Given the description of an element on the screen output the (x, y) to click on. 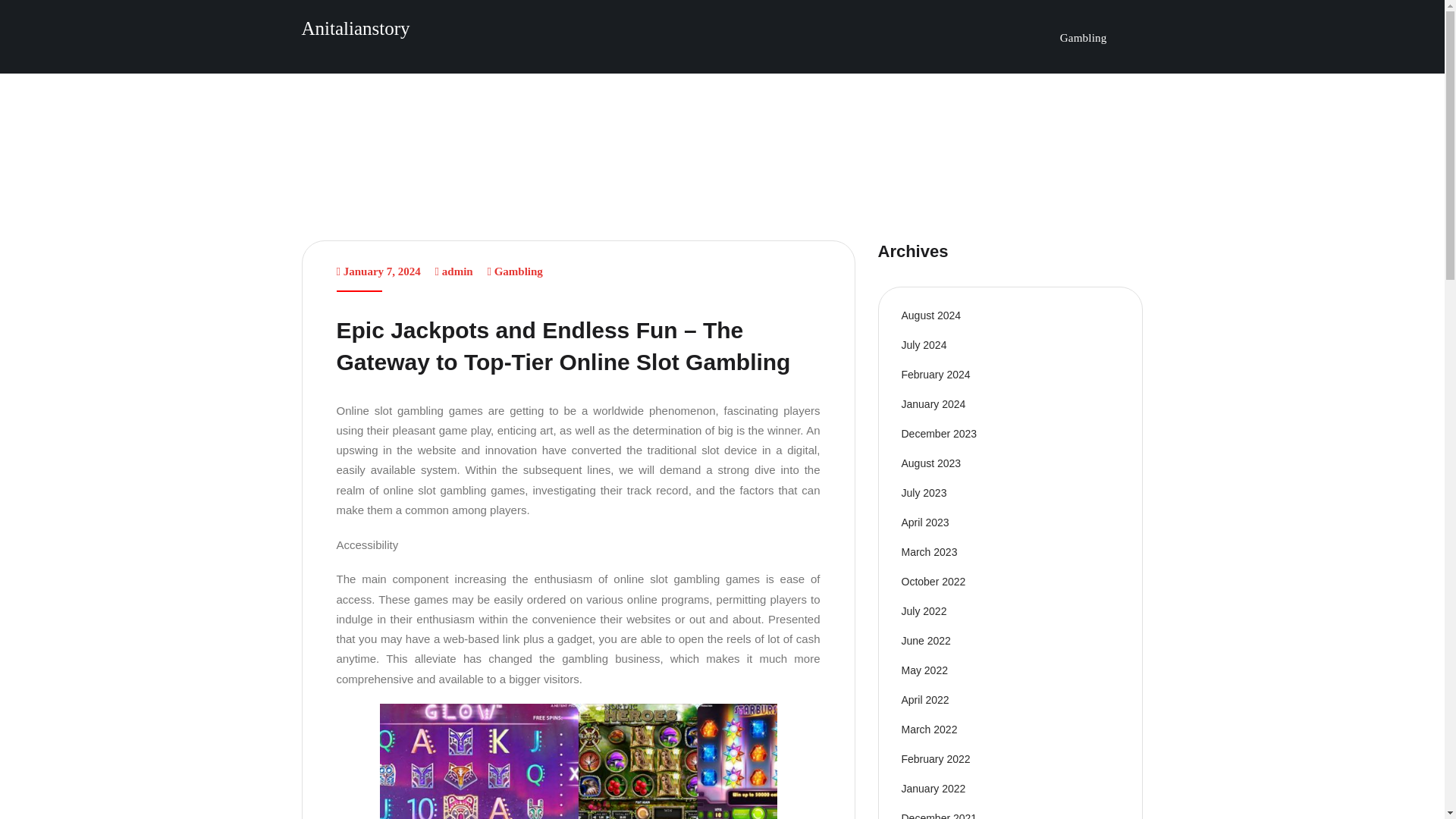
March 2022 (928, 729)
January 2024 (933, 404)
February 2024 (935, 374)
December 2021 (938, 815)
May 2022 (924, 670)
admin (457, 271)
July 2024 (923, 345)
Posts by admin (457, 271)
June 2022 (925, 640)
January 2022 (933, 788)
